Given the description of an element on the screen output the (x, y) to click on. 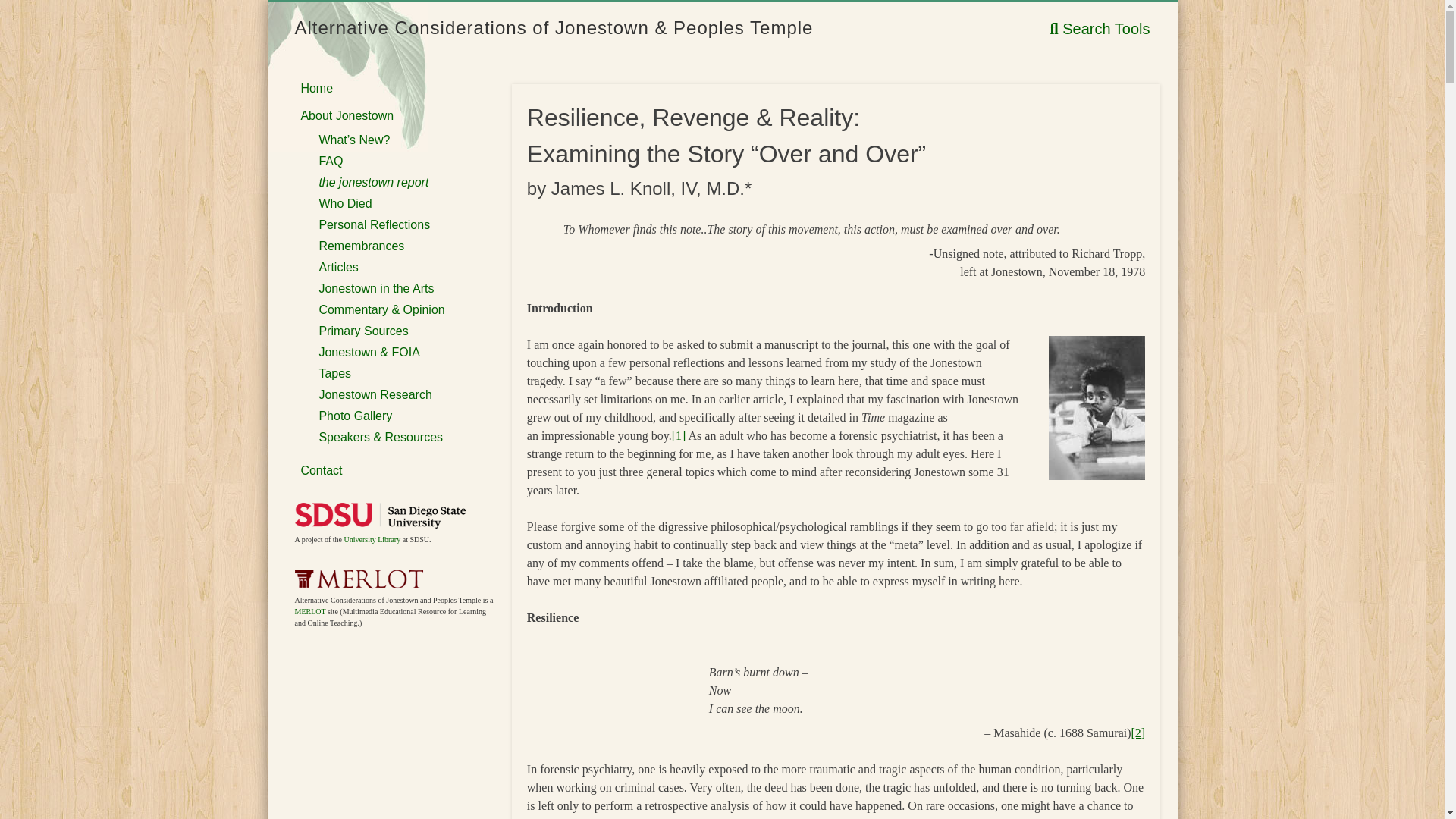
Search Tools (1099, 28)
